Given the description of an element on the screen output the (x, y) to click on. 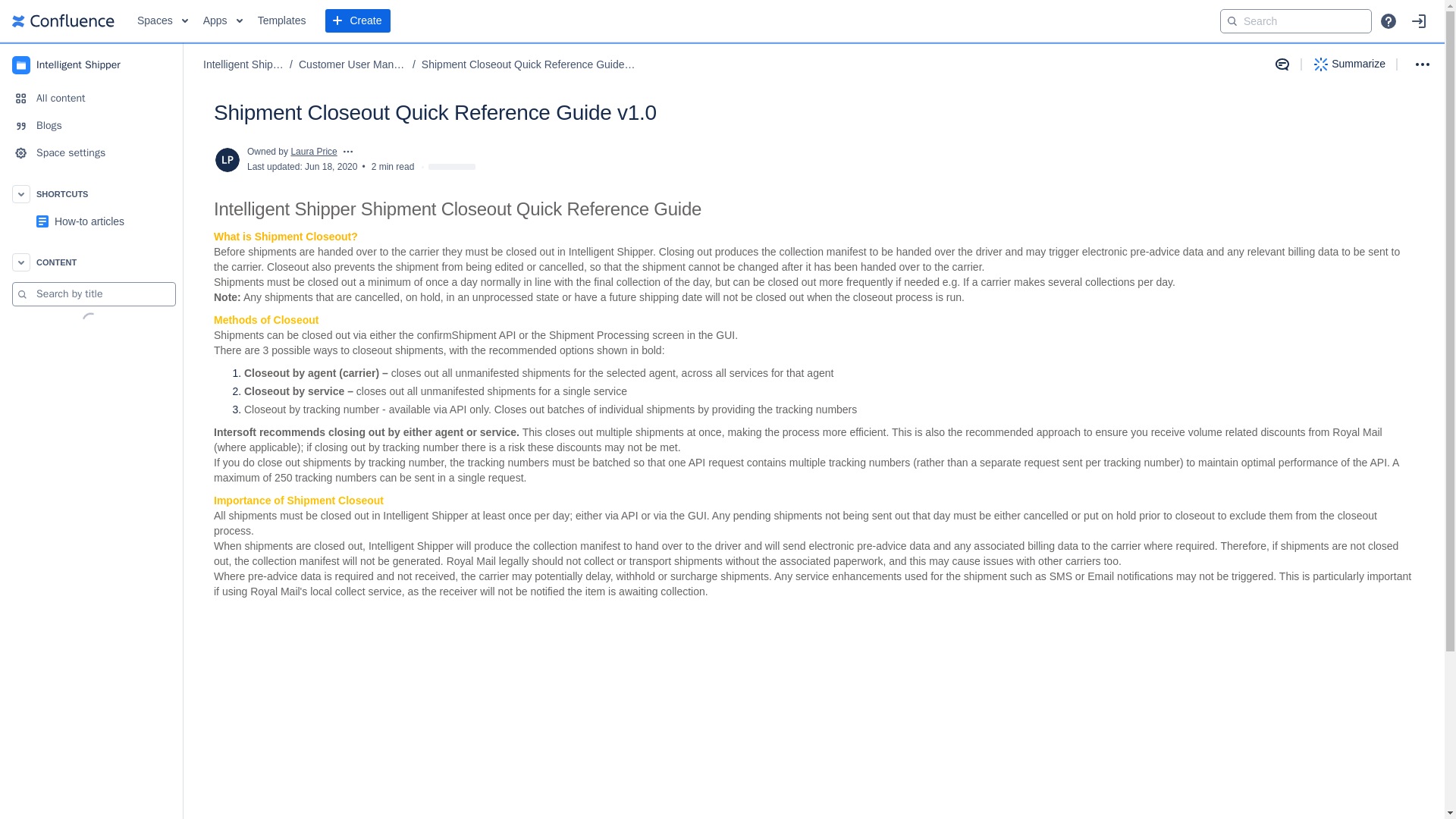
Intelligent Shipper (243, 64)
Space settings (90, 153)
Customer User Manuals (352, 64)
How-to articles (90, 221)
SHORTCUTS (90, 194)
Jun 18, 2020 (330, 166)
Create (357, 21)
Shipment Closeout Quick Reference Guide v1.0 (528, 64)
Spaces (162, 21)
Summarize (1349, 63)
